Given the description of an element on the screen output the (x, y) to click on. 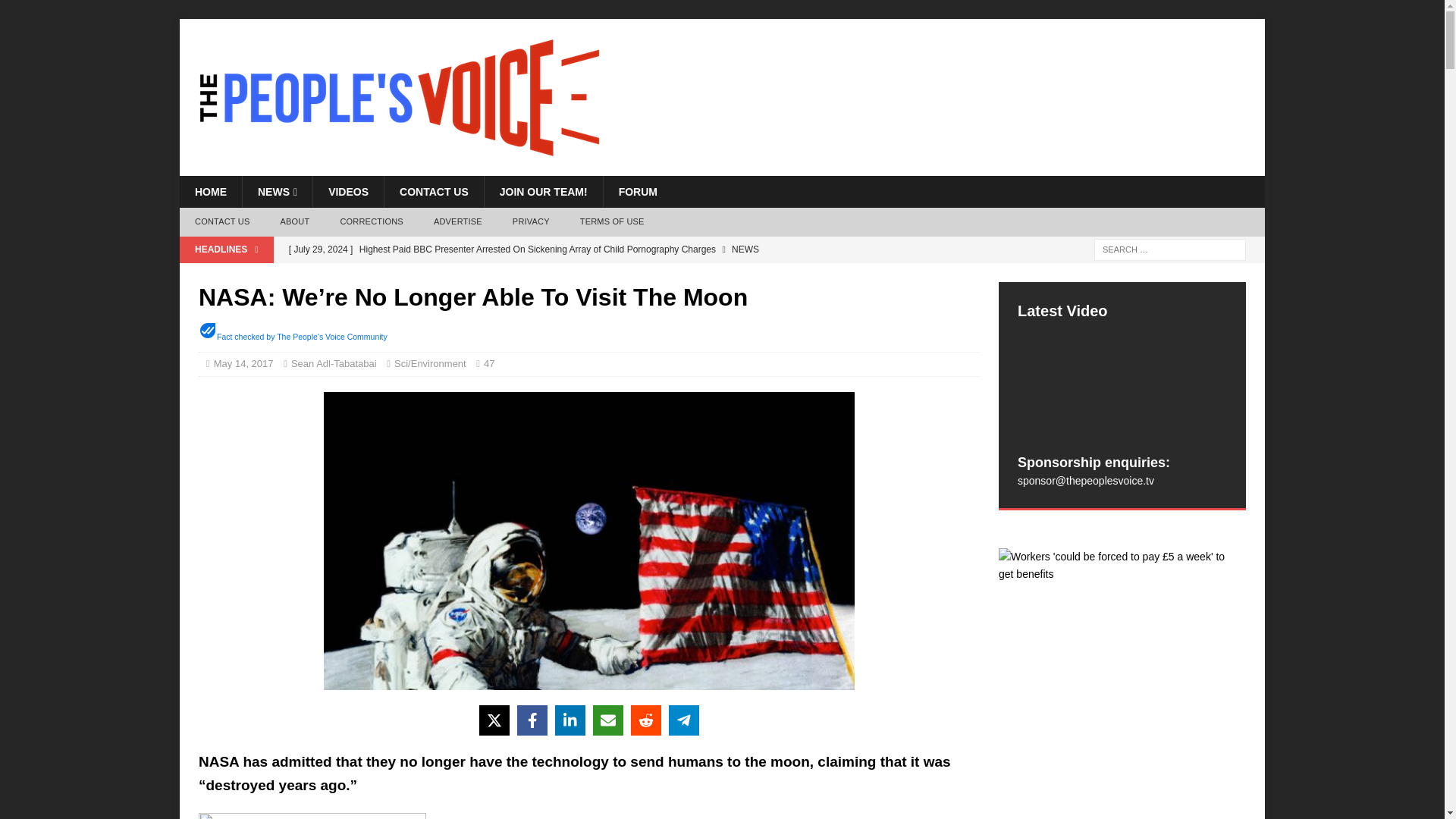
CONTACT US (433, 192)
TERMS OF USE (611, 222)
CONTACT US (221, 222)
NEWS (277, 192)
JOIN OUR TEAM! (542, 192)
Search (56, 11)
47 (492, 363)
FORUM (637, 192)
May 14, 2017 (243, 363)
Fact checked by The People's Voice Community (301, 336)
ABOUT (294, 222)
ADVERTISE (458, 222)
CORRECTIONS (370, 222)
